Given the description of an element on the screen output the (x, y) to click on. 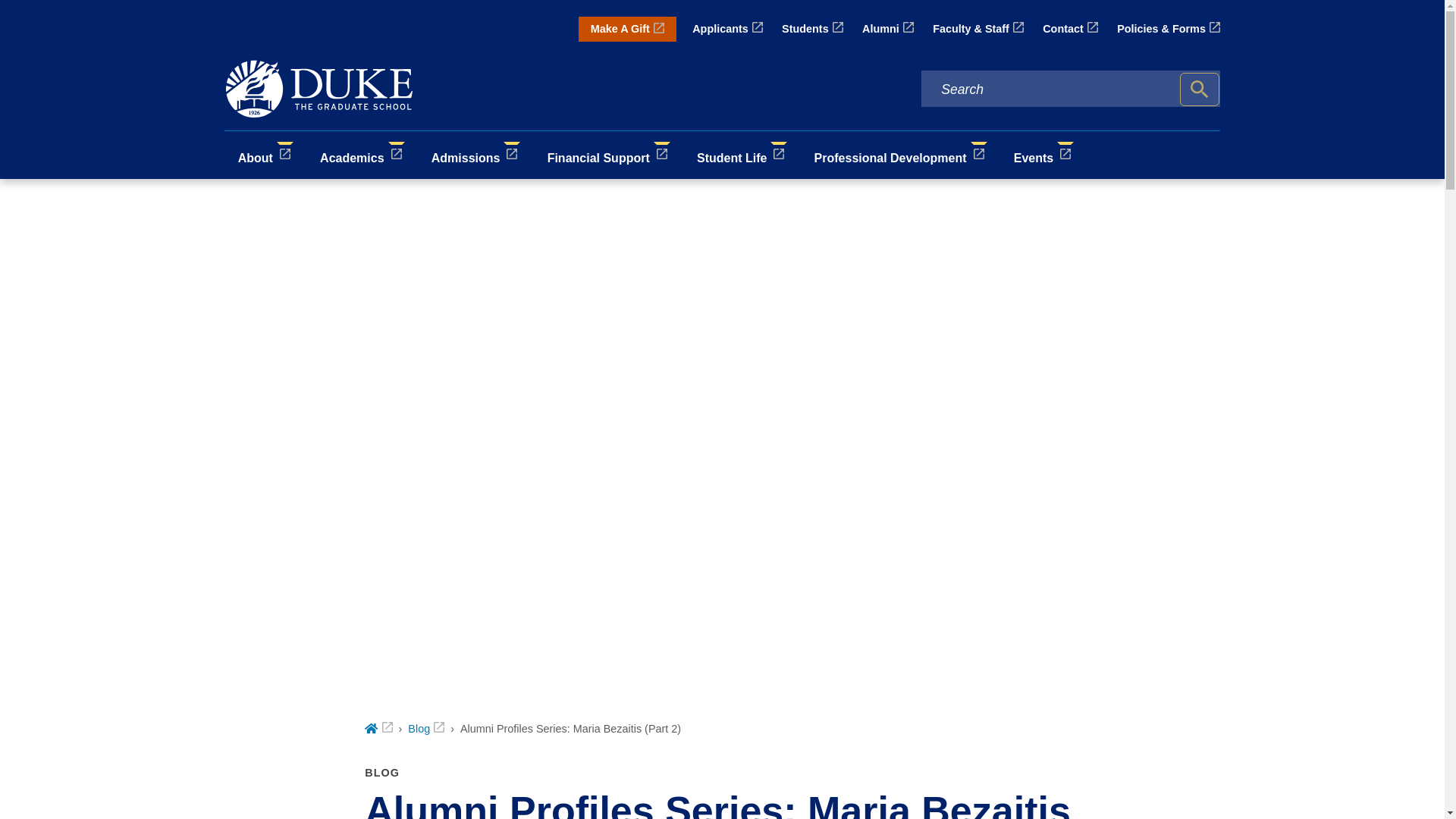
Applicants (727, 28)
Home (378, 728)
About (264, 155)
Students (812, 28)
Make A Gift (627, 28)
Admissions (475, 155)
Contact (1069, 28)
Alumni (887, 28)
Academics (361, 155)
